Given the description of an element on the screen output the (x, y) to click on. 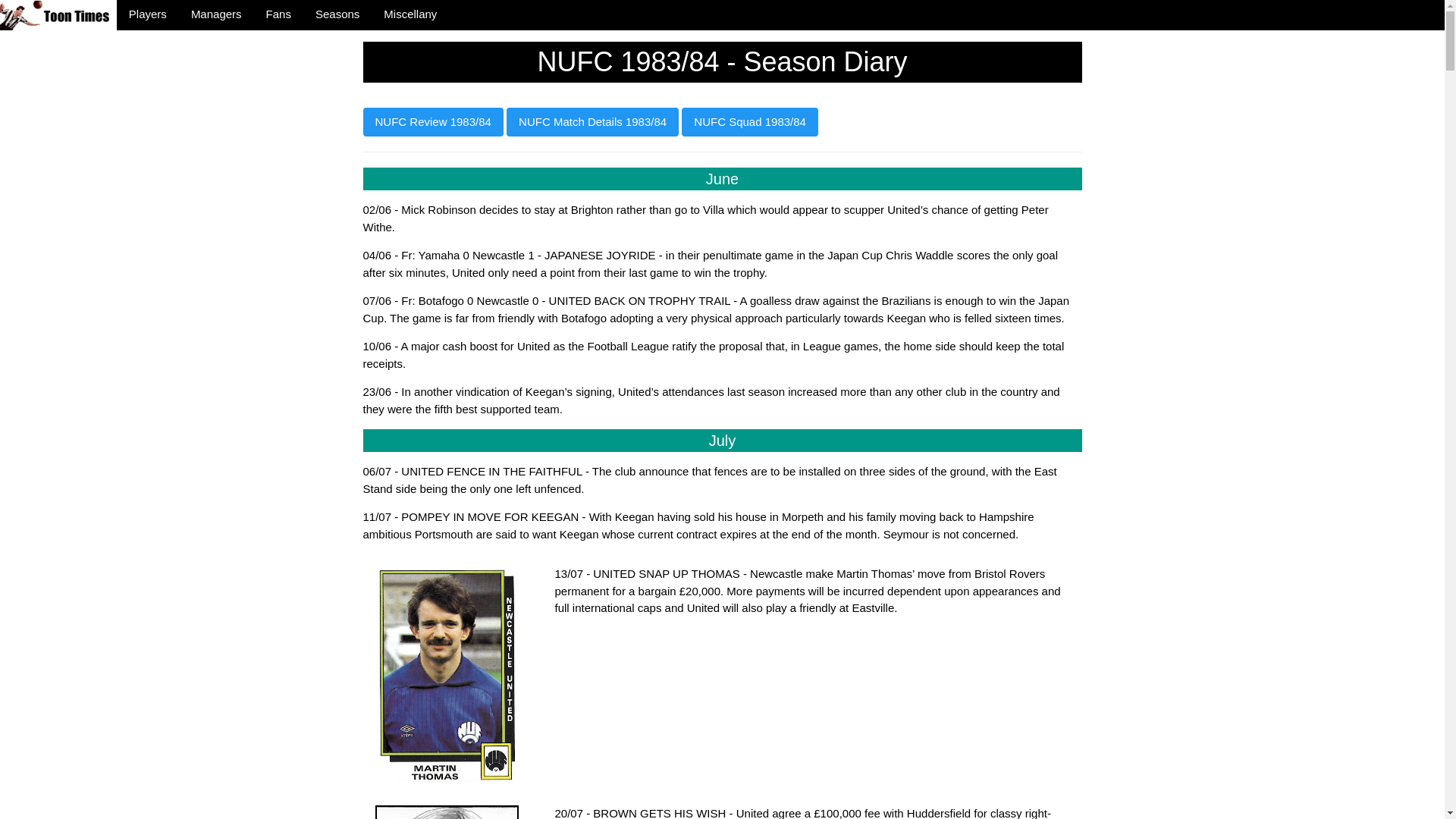
Miscellany (409, 14)
Fans (277, 14)
Seasons (336, 14)
Players (147, 14)
Managers (216, 14)
